Given the description of an element on the screen output the (x, y) to click on. 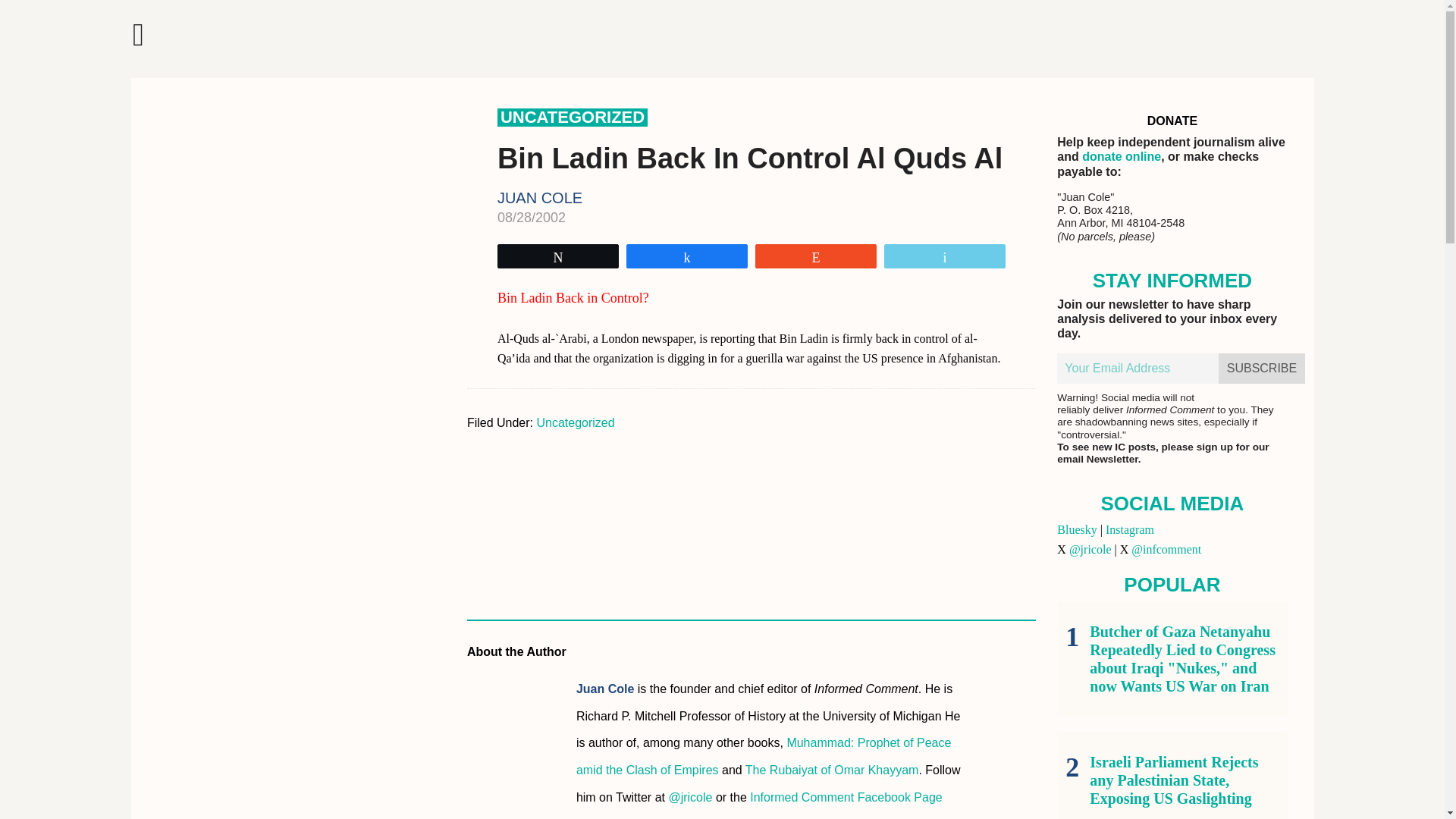
Informed Comment Facebook Page (845, 797)
Instagram (1129, 529)
Uncategorized (574, 422)
subscribe (1262, 368)
The Rubaiyat of Omar Khayyam (831, 769)
Juan Cole (604, 688)
subscribe (1262, 368)
donate online (1120, 155)
JUAN COLE (539, 197)
Bluesky (1076, 529)
UNCATEGORIZED (572, 117)
Muhammad: Prophet of Peace amid the Clash of Empires (764, 756)
